Given the description of an element on the screen output the (x, y) to click on. 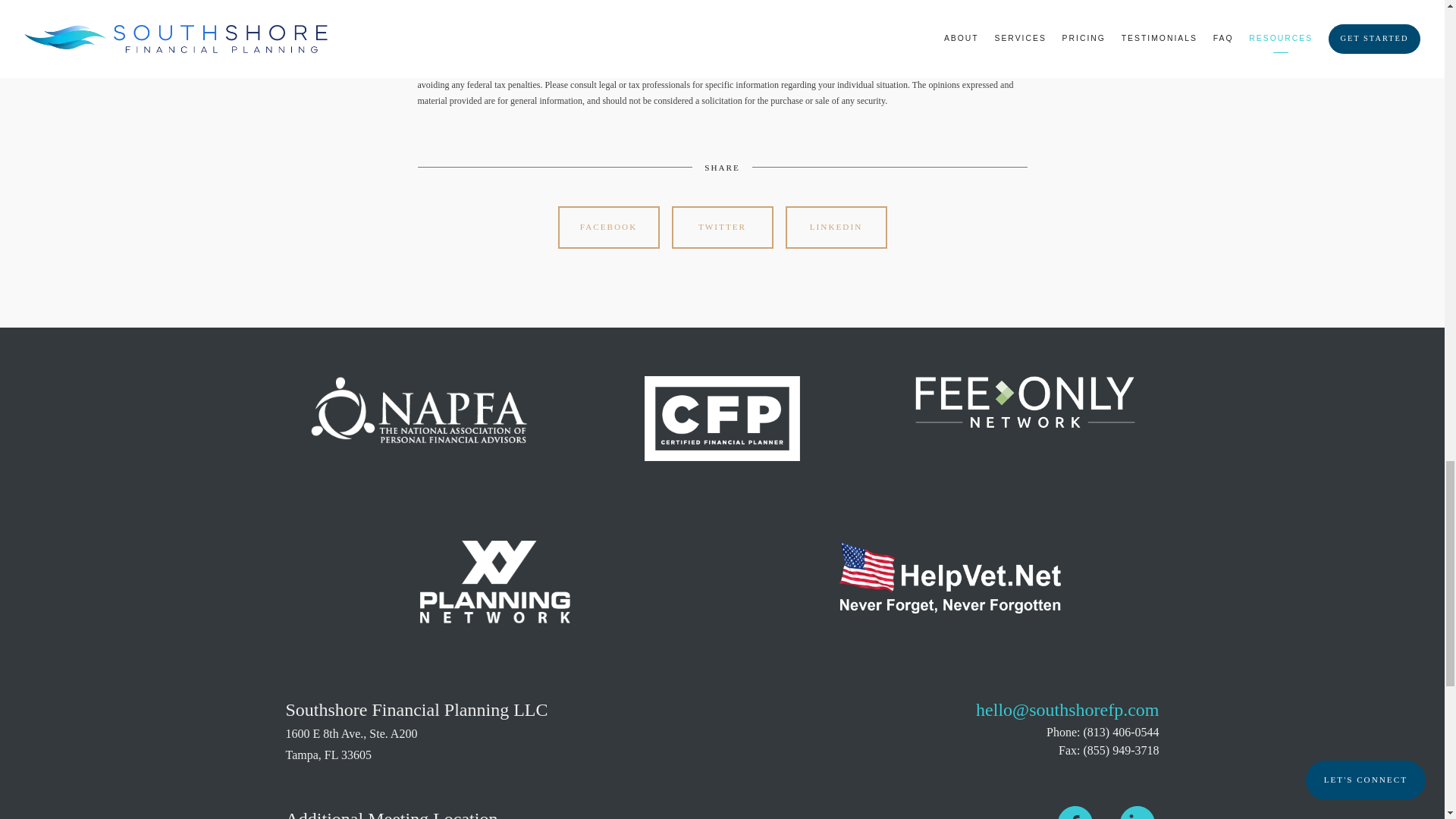
TWITTER (722, 227)
LINKEDIN (836, 227)
FACEBOOK (608, 227)
